Given the description of an element on the screen output the (x, y) to click on. 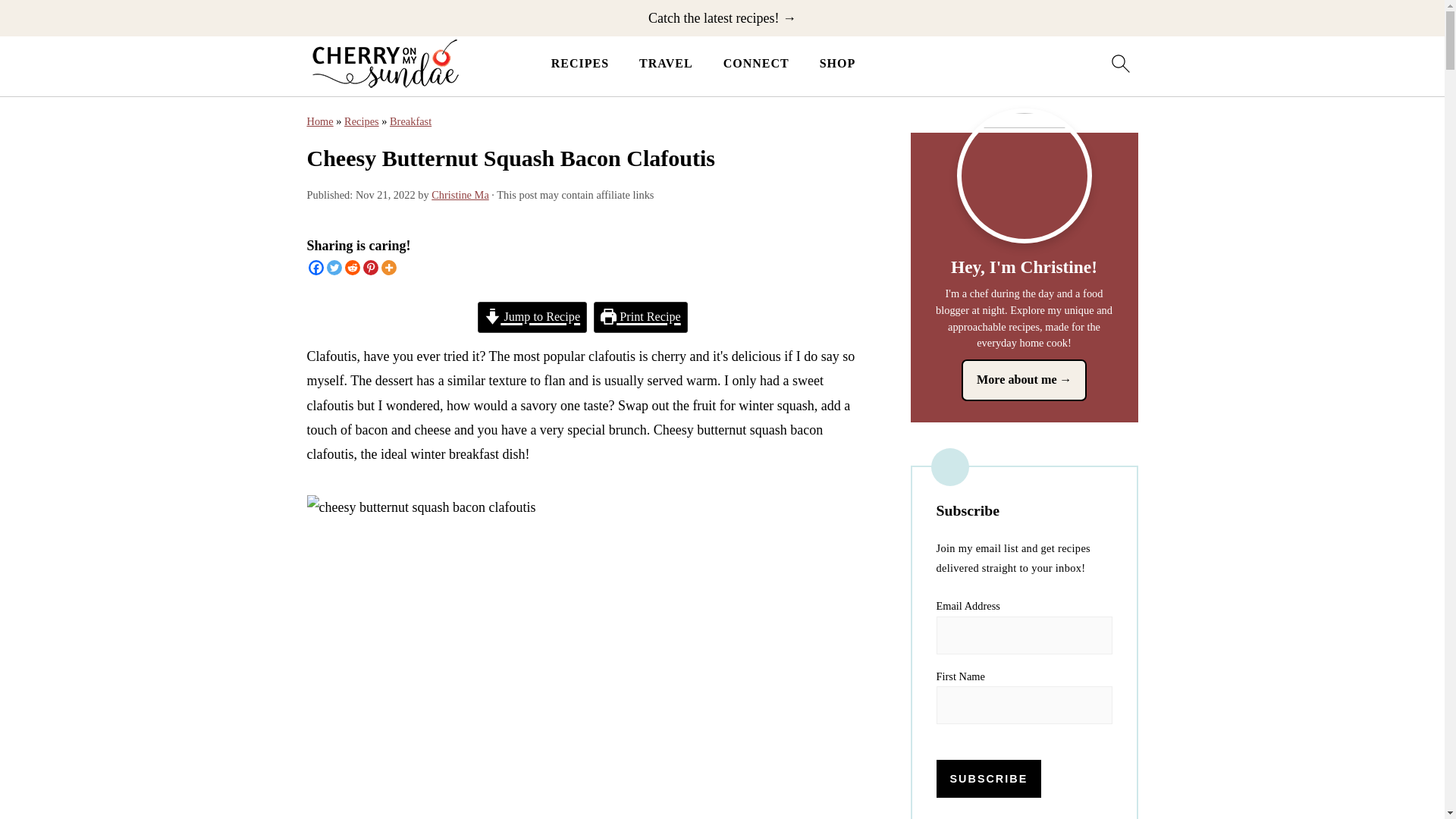
SHOP (837, 63)
Twitter (333, 267)
Home (319, 121)
RECIPES (579, 63)
CONNECT (756, 63)
Subscribe (988, 778)
More (388, 267)
Pinterest (369, 267)
TRAVEL (666, 63)
